Given the description of an element on the screen output the (x, y) to click on. 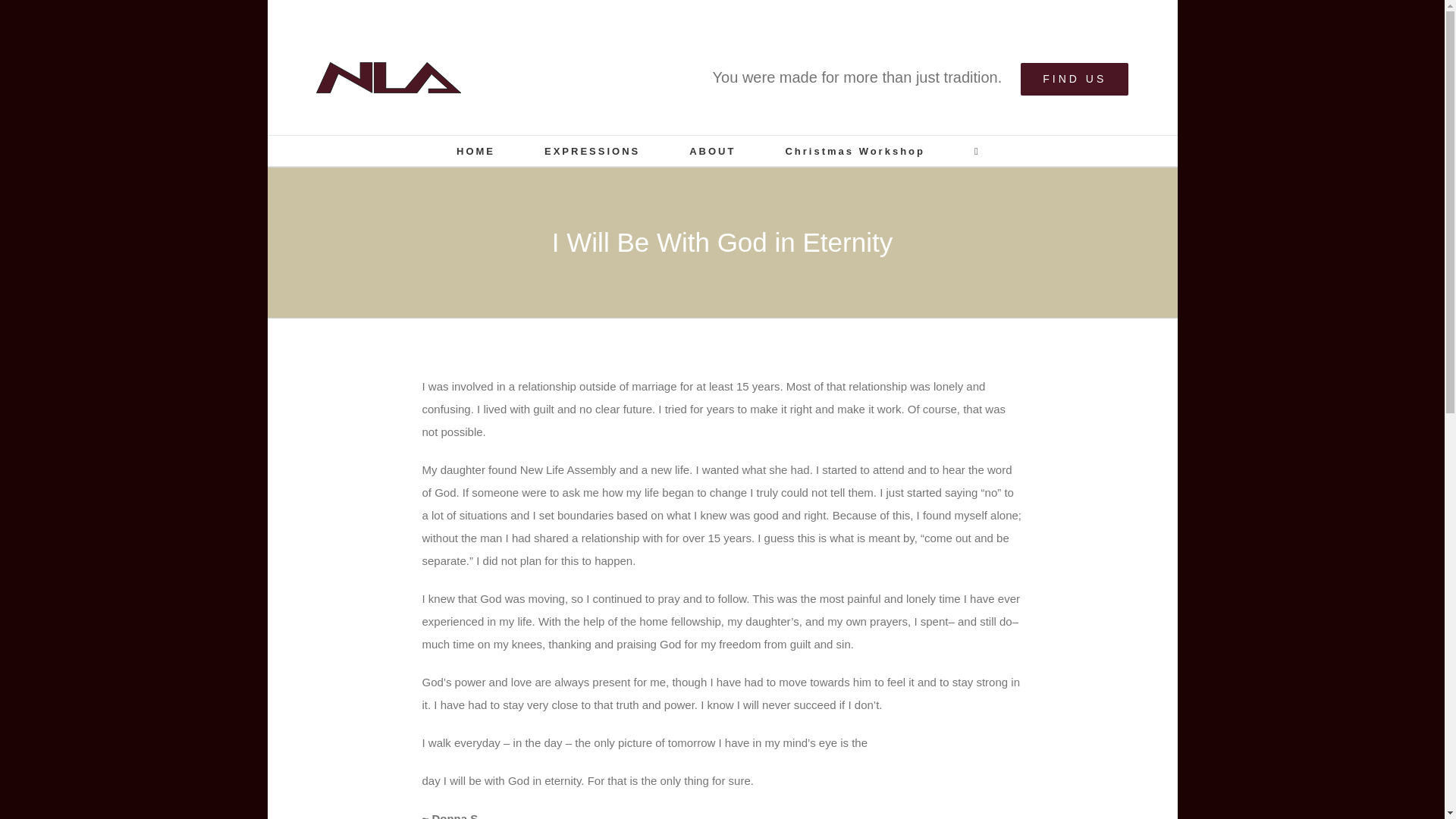
EXPRESSIONS (592, 150)
HOME (476, 150)
ABOUT (711, 150)
FIND US (1074, 79)
Christmas Workshop (854, 150)
